Given the description of an element on the screen output the (x, y) to click on. 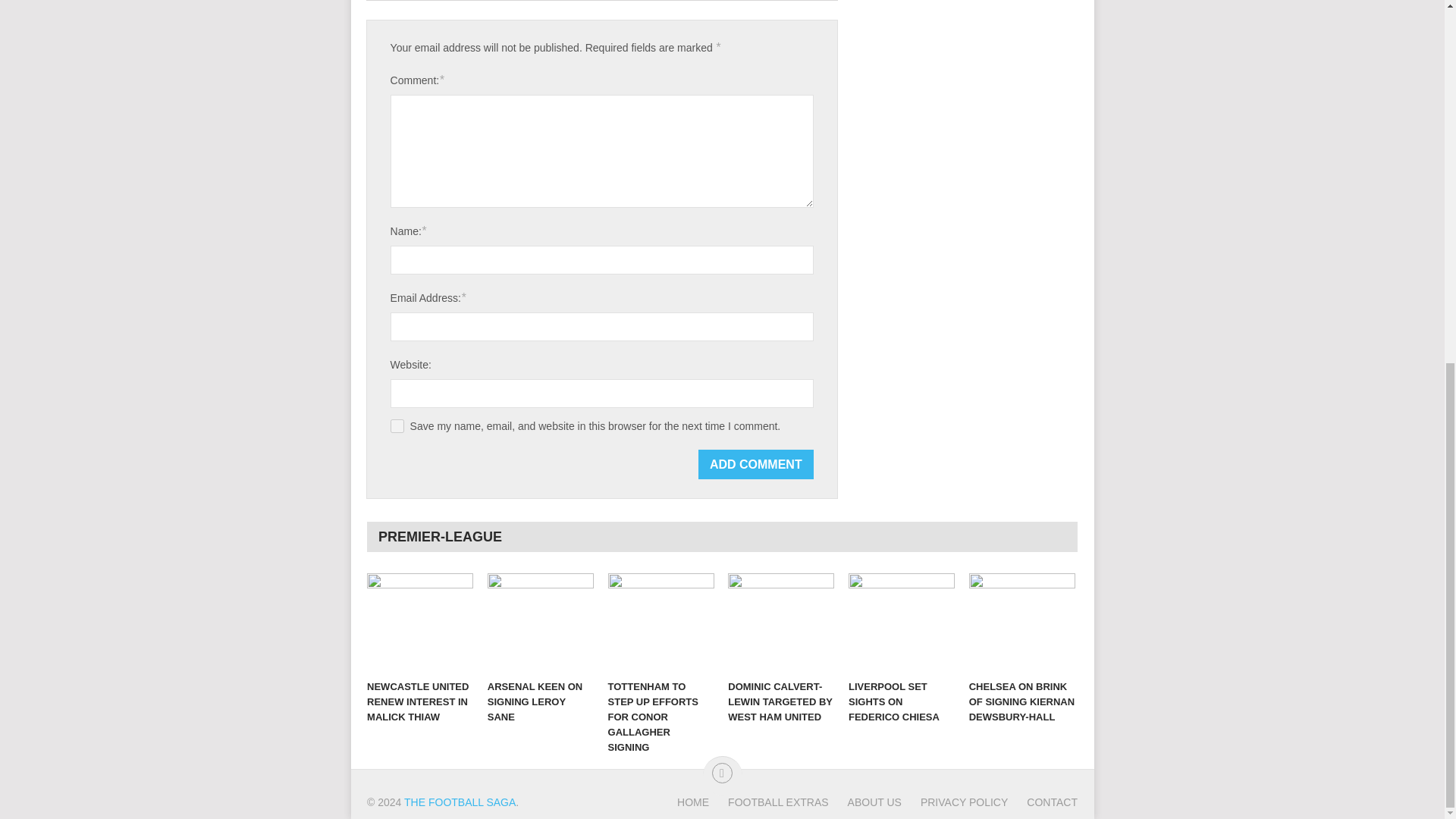
ARSENAL KEEN ON SIGNING LEROY SANE (540, 622)
TOTTENHAM TO STEP UP EFFORTS FOR CONOR GALLAGHER SIGNING (661, 622)
Add Comment (755, 464)
NEWCASTLE UNITED RENEW INTEREST IN MALICK THIAW (419, 622)
Newcastle United renew interest in Malick Thiaw (419, 622)
Add Comment (755, 464)
LIVERPOOL SET SIGHTS ON FEDERICO CHIESA (901, 622)
DOMINIC CALVERT-LEWIN TARGETED BY WEST HAM UNITED (781, 622)
yes (397, 426)
Arsenal keen on signing Leroy Sane (540, 622)
